Given the description of an element on the screen output the (x, y) to click on. 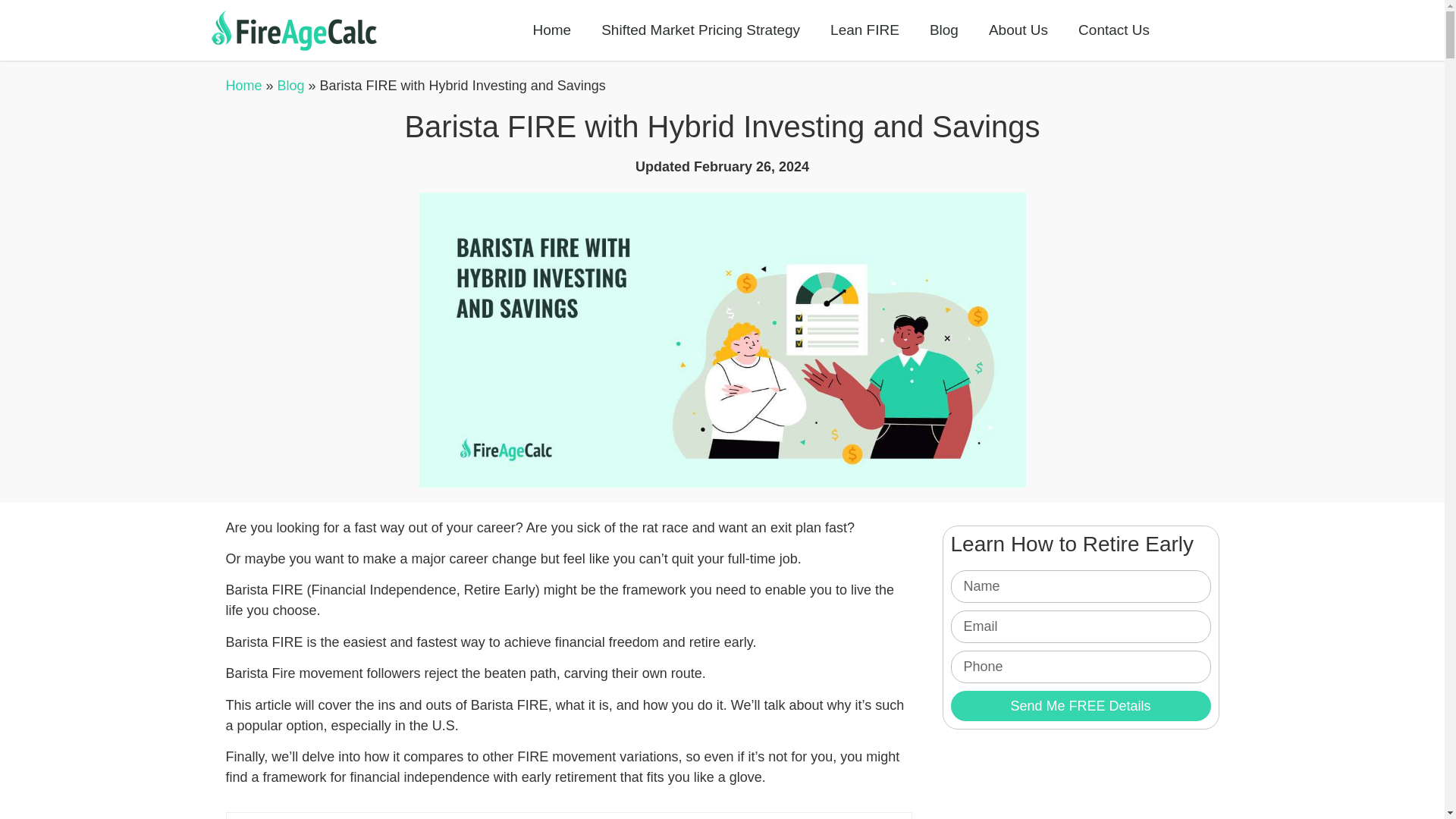
Send Me FREE Details (1080, 706)
Home (243, 85)
About Us (1018, 30)
Home (551, 30)
Lean FIRE (864, 30)
Shifted Market Pricing Strategy (700, 30)
Blog (291, 85)
Blog (944, 30)
Contact Us (1113, 30)
